Given the description of an element on the screen output the (x, y) to click on. 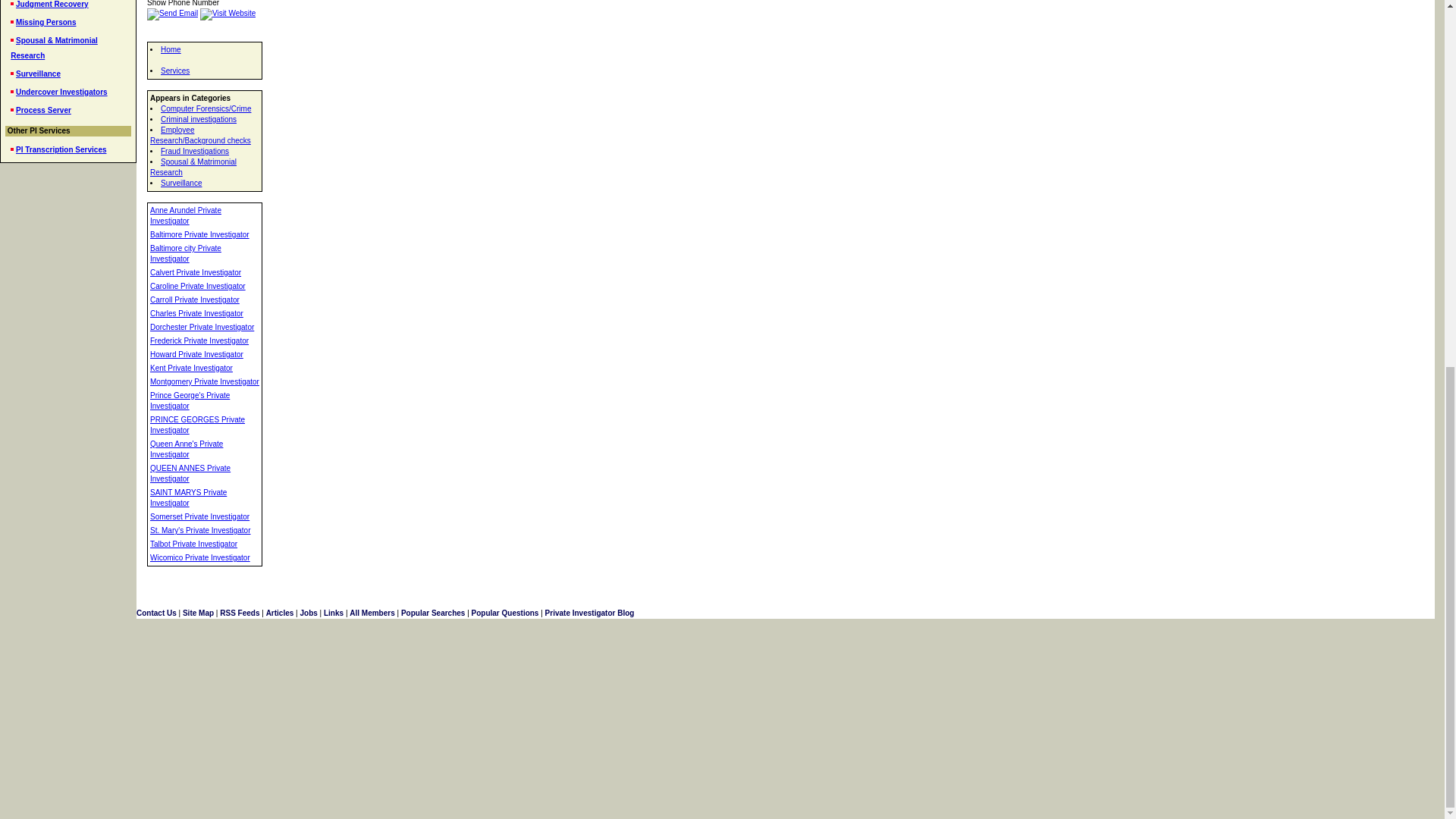
Process Server (43, 110)
PI Transcription Services (61, 149)
Missing Persons (45, 22)
Surveillance Private Investigator (38, 73)
Missing Persons Private Investigator (45, 22)
Surveillance (38, 73)
Judgment Recovery Private Investigator (52, 4)
Undercover Investigators (61, 91)
Judgment Recovery (52, 4)
